Given the description of an element on the screen output the (x, y) to click on. 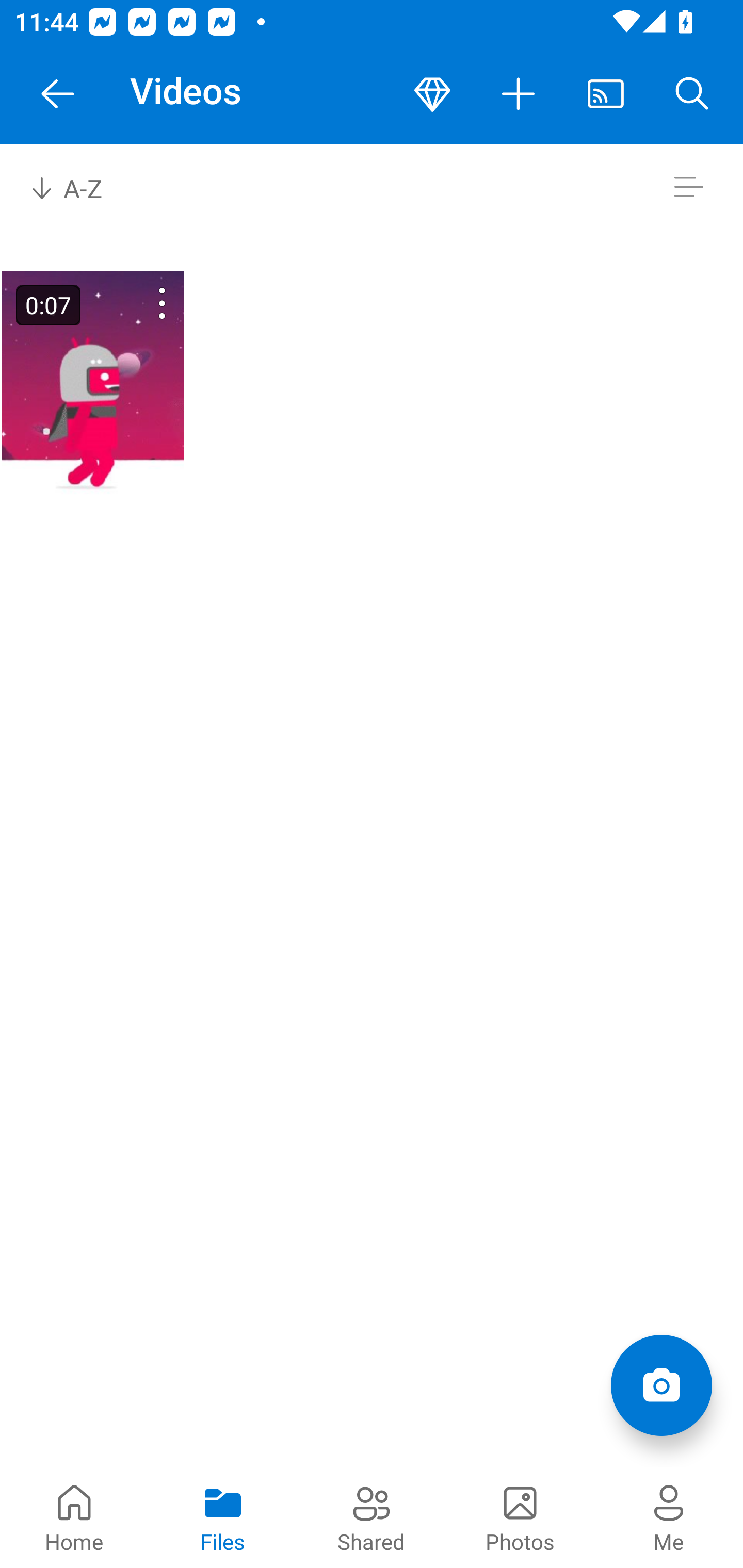
Navigate Up (57, 93)
Cast. Disconnected (605, 93)
Premium button (432, 93)
More actions button (518, 93)
Search button (692, 93)
A-Z Sort by combo box, sort by name, A to Z (80, 187)
Switch to list view (688, 187)
VID_20240428_112341 commands (136, 303)
Add items Scan (660, 1385)
Home pivot Home (74, 1517)
Shared pivot Shared (371, 1517)
Photos pivot Photos (519, 1517)
Me pivot Me (668, 1517)
